Given the description of an element on the screen output the (x, y) to click on. 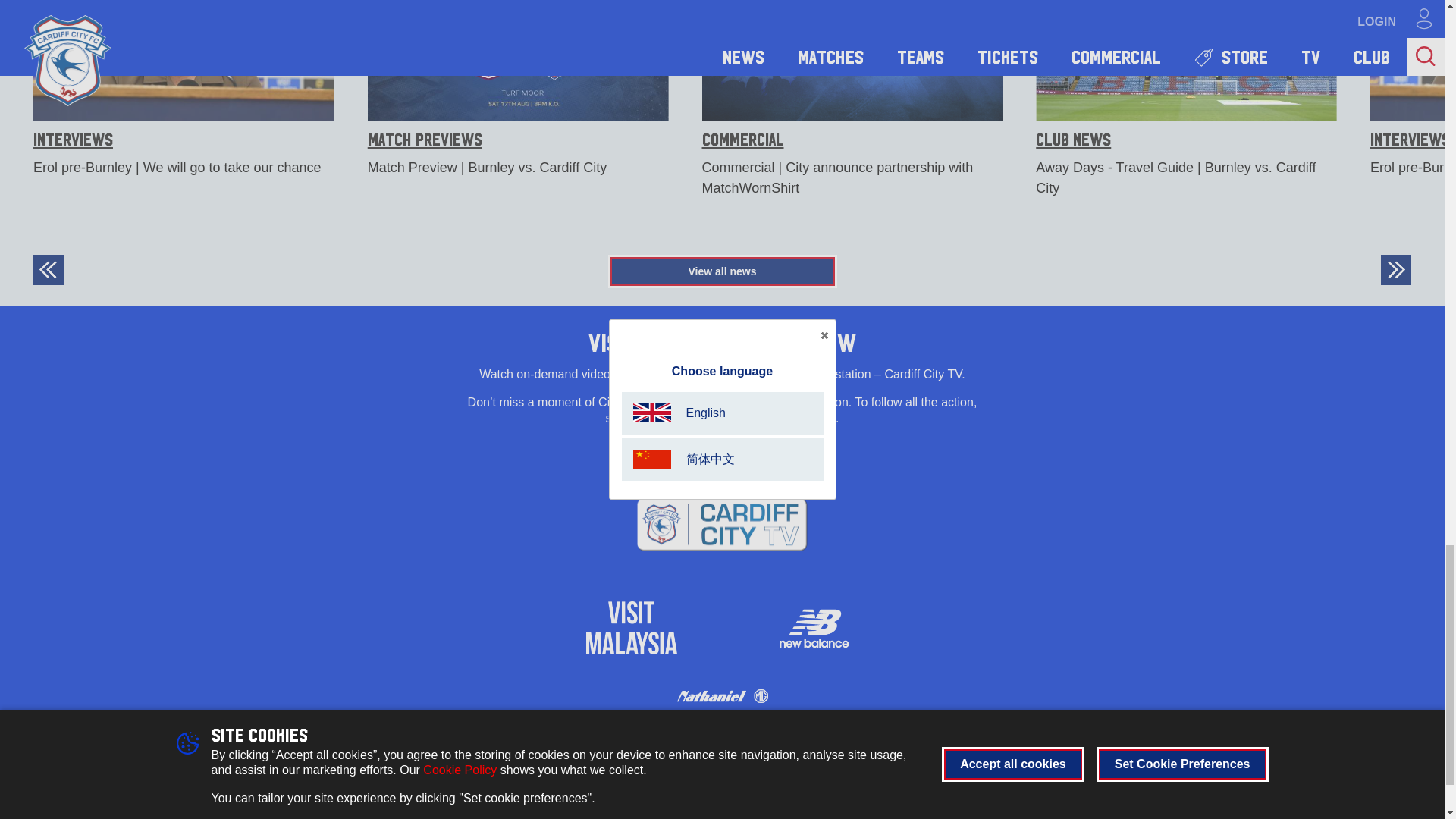
Visit Malaysia (631, 627)
New Balance (813, 627)
Nathaniel Cars (722, 696)
